Given the description of an element on the screen output the (x, y) to click on. 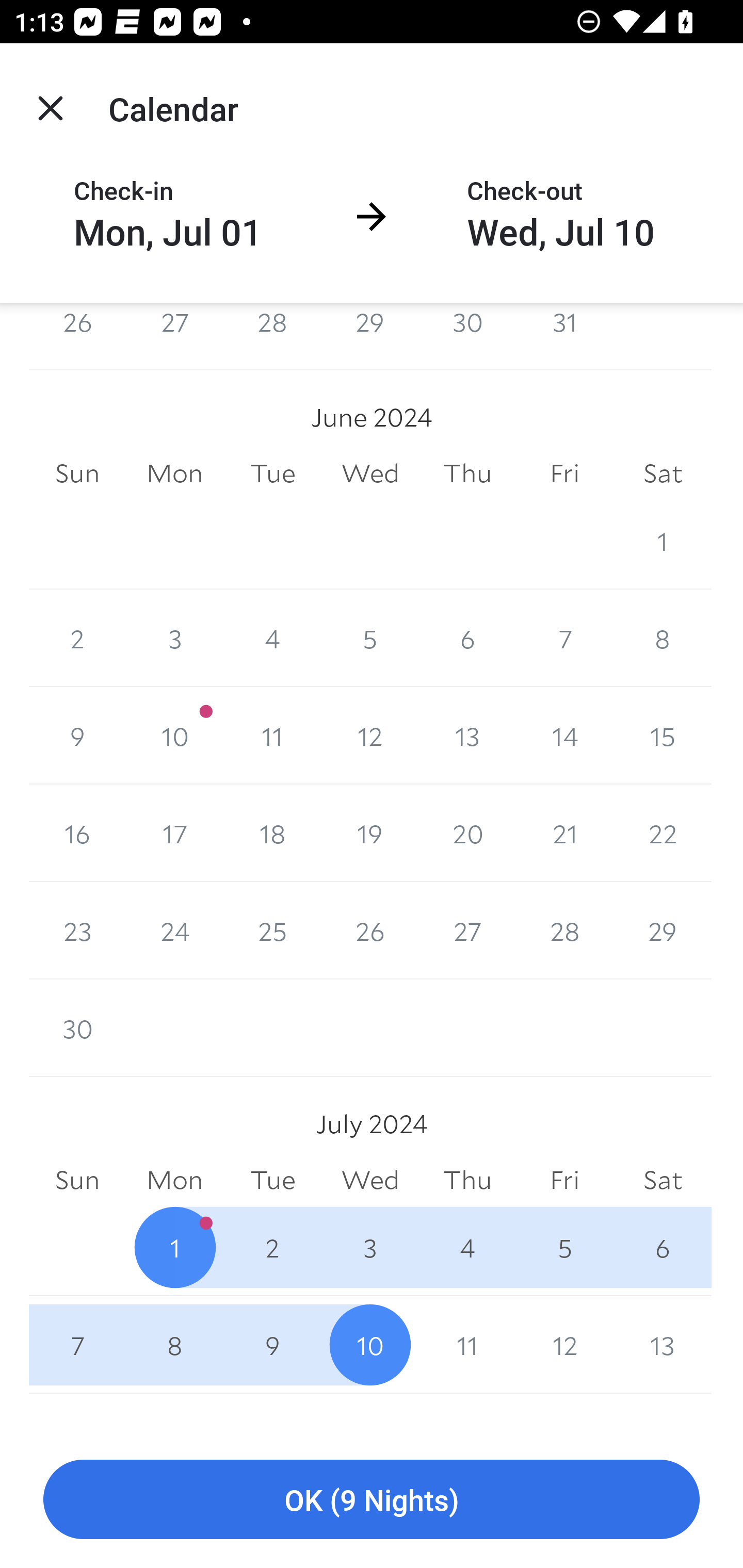
26 26 May 2024 (77, 336)
27 27 May 2024 (174, 336)
28 28 May 2024 (272, 336)
29 29 May 2024 (370, 336)
30 30 May 2024 (467, 336)
31 31 May 2024 (564, 336)
Sun (77, 473)
Mon (174, 473)
Tue (272, 473)
Wed (370, 473)
Thu (467, 473)
Fri (564, 473)
Sat (662, 473)
1 1 June 2024 (662, 540)
2 2 June 2024 (77, 637)
3 3 June 2024 (174, 637)
4 4 June 2024 (272, 637)
5 5 June 2024 (370, 637)
6 6 June 2024 (467, 637)
7 7 June 2024 (564, 637)
8 8 June 2024 (662, 637)
9 9 June 2024 (77, 735)
10 10 June 2024 (174, 735)
11 11 June 2024 (272, 735)
12 12 June 2024 (370, 735)
13 13 June 2024 (467, 735)
14 14 June 2024 (564, 735)
15 15 June 2024 (662, 735)
16 16 June 2024 (77, 832)
17 17 June 2024 (174, 832)
18 18 June 2024 (272, 832)
19 19 June 2024 (370, 832)
20 20 June 2024 (467, 832)
21 21 June 2024 (564, 832)
22 22 June 2024 (662, 832)
23 23 June 2024 (77, 930)
24 24 June 2024 (174, 930)
25 25 June 2024 (272, 930)
26 26 June 2024 (370, 930)
27 27 June 2024 (467, 930)
28 28 June 2024 (564, 930)
29 29 June 2024 (662, 930)
30 30 June 2024 (77, 1028)
Sun (77, 1179)
Mon (174, 1179)
Tue (272, 1179)
Wed (370, 1179)
Thu (467, 1179)
Fri (564, 1179)
Sat (662, 1179)
1 1 July 2024 (174, 1246)
2 2 July 2024 (272, 1246)
3 3 July 2024 (370, 1246)
4 4 July 2024 (467, 1246)
5 5 July 2024 (564, 1246)
6 6 July 2024 (662, 1246)
7 7 July 2024 (77, 1344)
8 8 July 2024 (174, 1344)
9 9 July 2024 (272, 1344)
10 10 July 2024 (370, 1344)
11 11 July 2024 (467, 1344)
12 12 July 2024 (564, 1344)
13 13 July 2024 (662, 1344)
OK (9 Nights) (371, 1499)
